Given the description of an element on the screen output the (x, y) to click on. 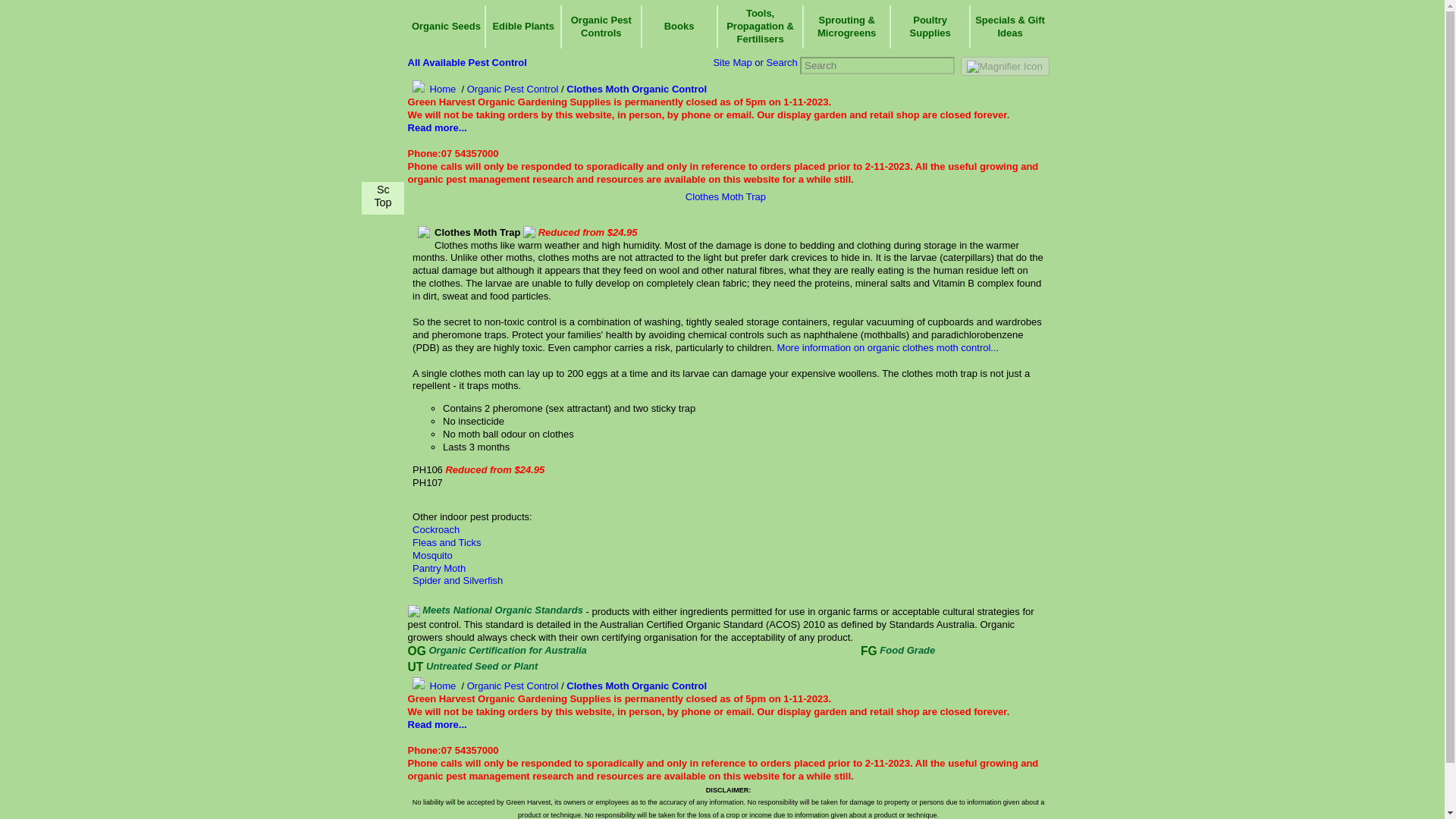
Scroll Up Icon (382, 190)
Poultry Supplies (930, 26)
Books (678, 25)
Home (432, 685)
More information on organic clothes moth control... (887, 347)
Search (780, 61)
Home (432, 89)
Read more... (437, 724)
Cockroach (436, 529)
Organic Pest Control (513, 685)
Pantry Moth (438, 568)
confirm (24, 293)
Organic Seeds (446, 25)
Clothes Moth Trap (725, 196)
search (1004, 66)
